Given the description of an element on the screen output the (x, y) to click on. 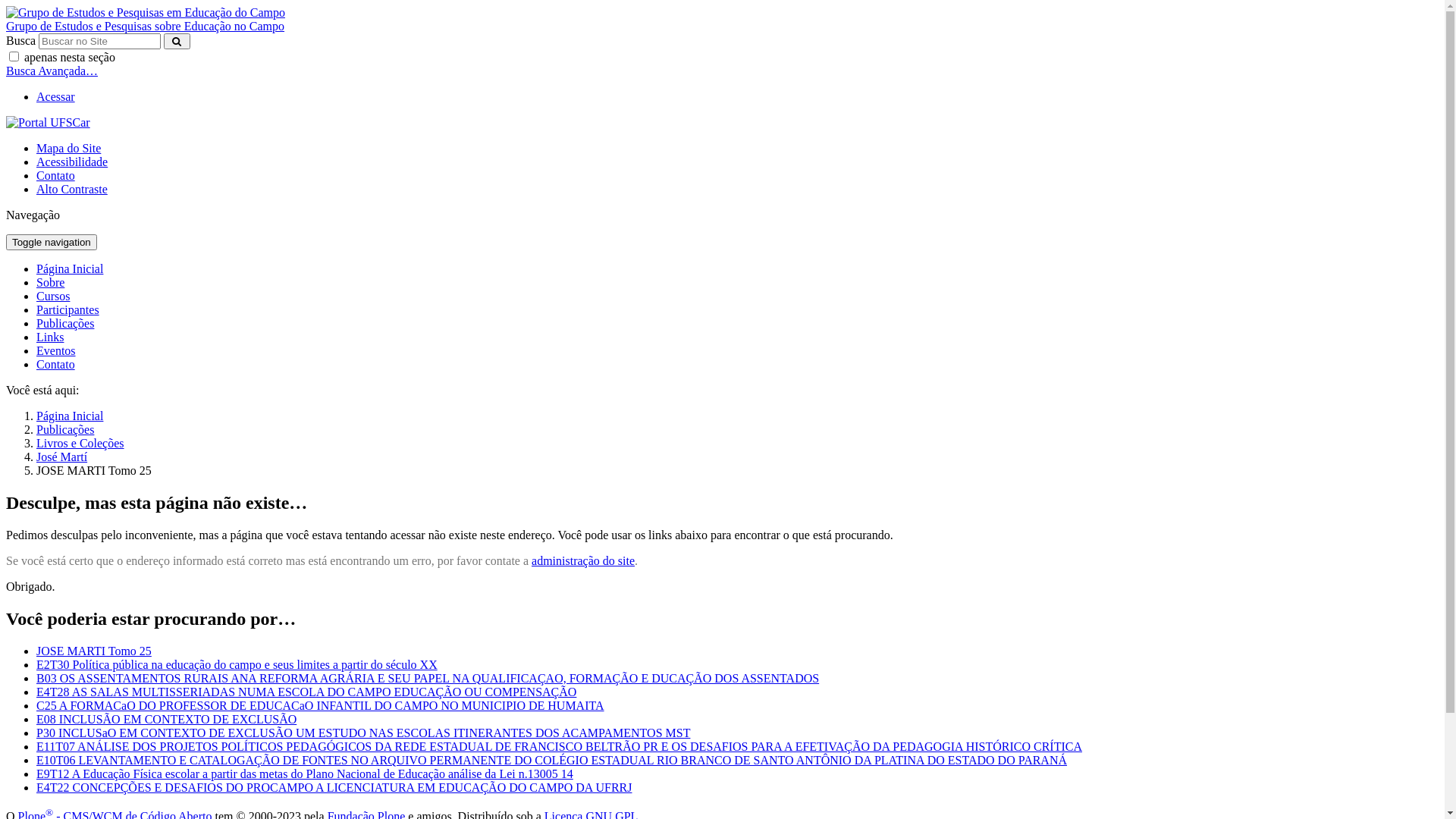
Mapa do Site Element type: text (68, 147)
Links Element type: text (49, 336)
JOSE MARTI Tomo 25 Element type: text (93, 650)
Contato Element type: text (55, 175)
Eventos Element type: text (55, 350)
Sobre Element type: text (50, 282)
Buscar no Site Element type: hover (99, 41)
Contato Element type: text (55, 363)
Participantes Element type: text (67, 309)
Acessar Element type: text (55, 96)
Acessibilidade Element type: text (71, 161)
Alto Contraste Element type: text (71, 188)
Portal UFSCar Element type: hover (48, 122)
Toggle navigation Element type: text (51, 242)
Cursos Element type: text (52, 295)
